Given the description of an element on the screen output the (x, y) to click on. 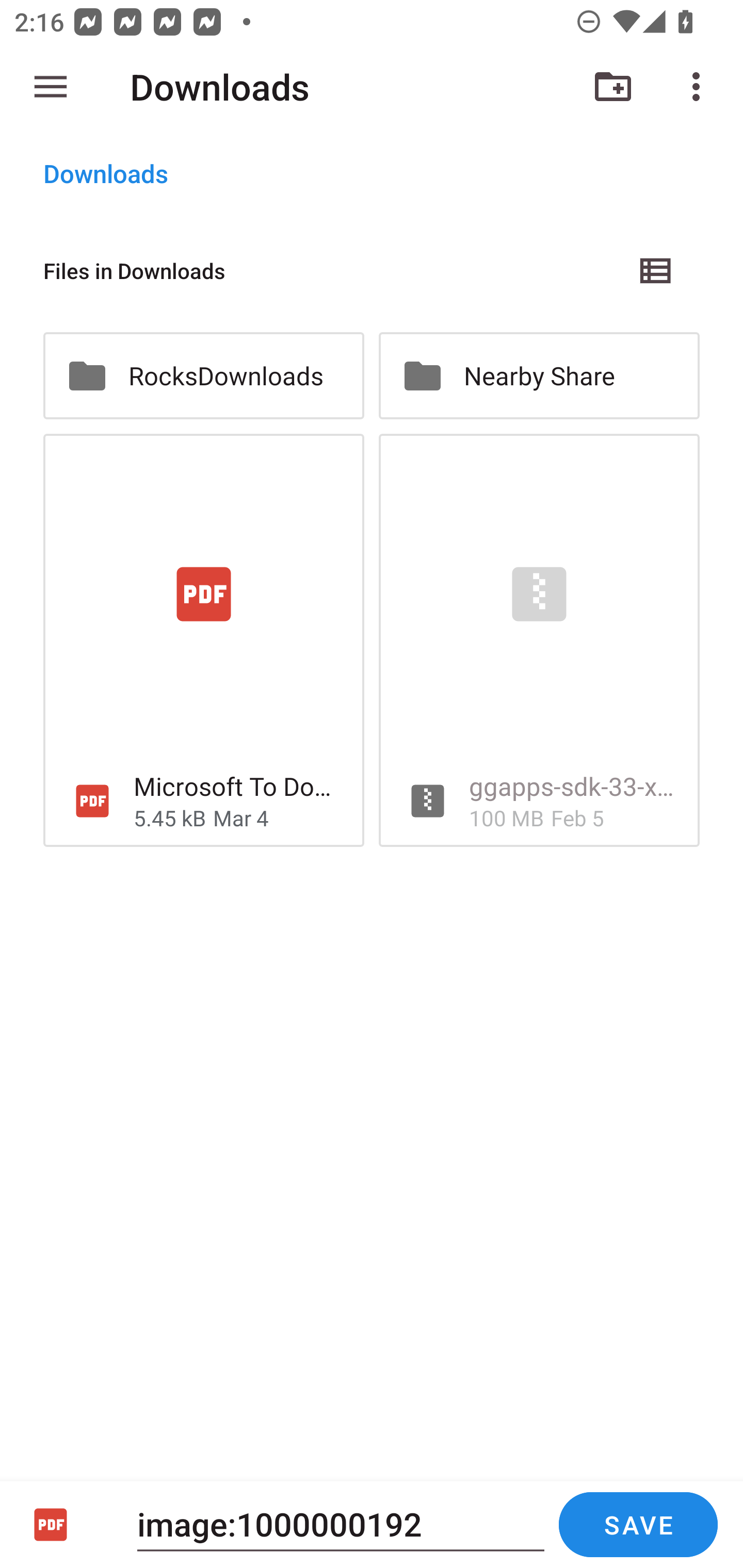
Show roots (50, 86)
New folder (612, 86)
More options (699, 86)
List view (655, 270)
RocksDownloads (203, 375)
Nearby Share (538, 375)
Microsoft To DoFlight Booking.pdf 5.45 kB Mar 4 (203, 640)
ggapps-sdk-33-x86_64-20231003.zip 100 MB Feb 5 (538, 640)
SAVE (637, 1524)
image:1000000192 (340, 1523)
